Given the description of an element on the screen output the (x, y) to click on. 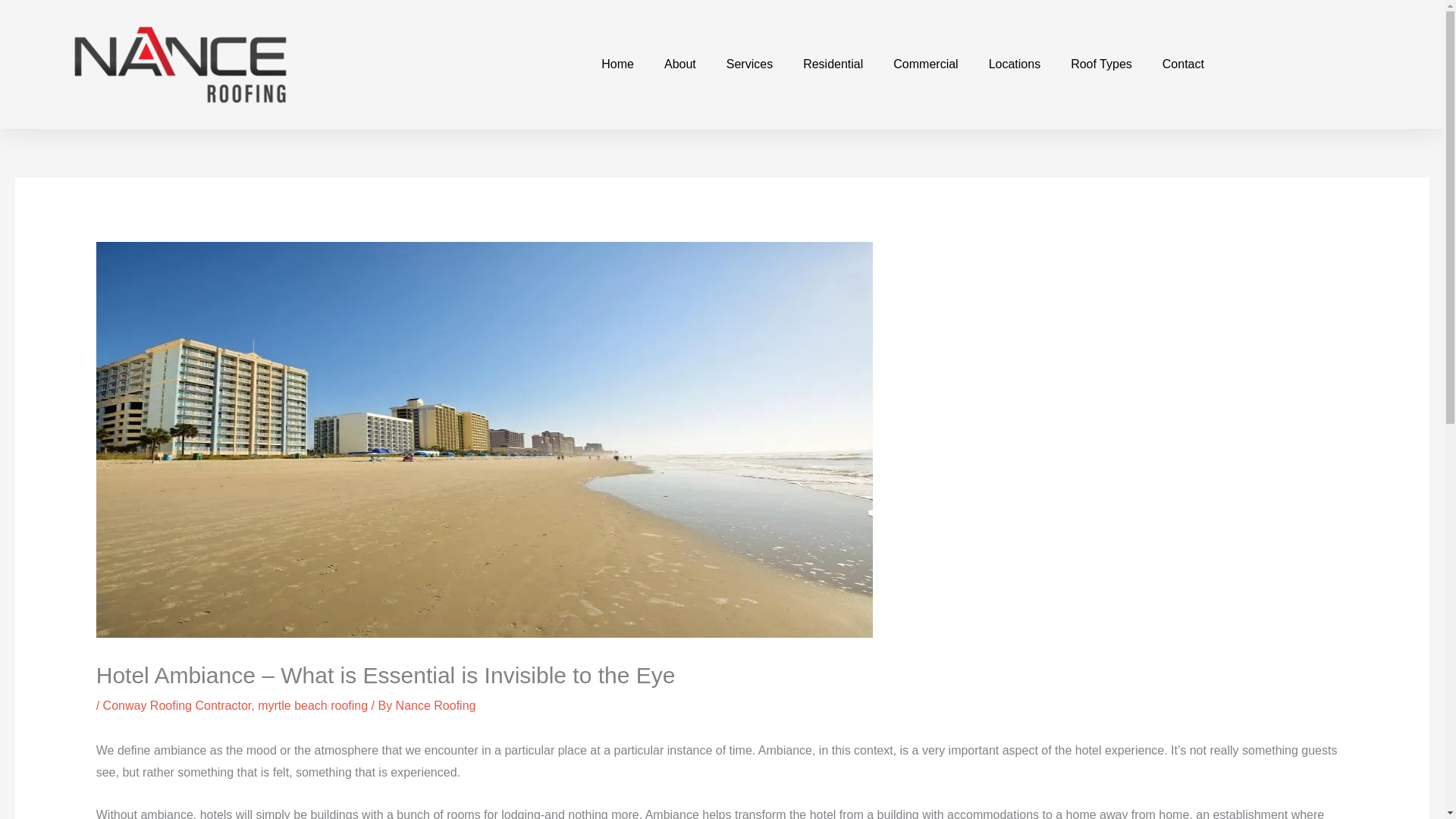
Commercial (924, 63)
About (680, 63)
Home (617, 63)
Residential (832, 63)
View all posts by Nance Roofing (436, 705)
Contact (1183, 63)
Roof Types (1101, 63)
Locations (1015, 63)
Services (749, 63)
